Given the description of an element on the screen output the (x, y) to click on. 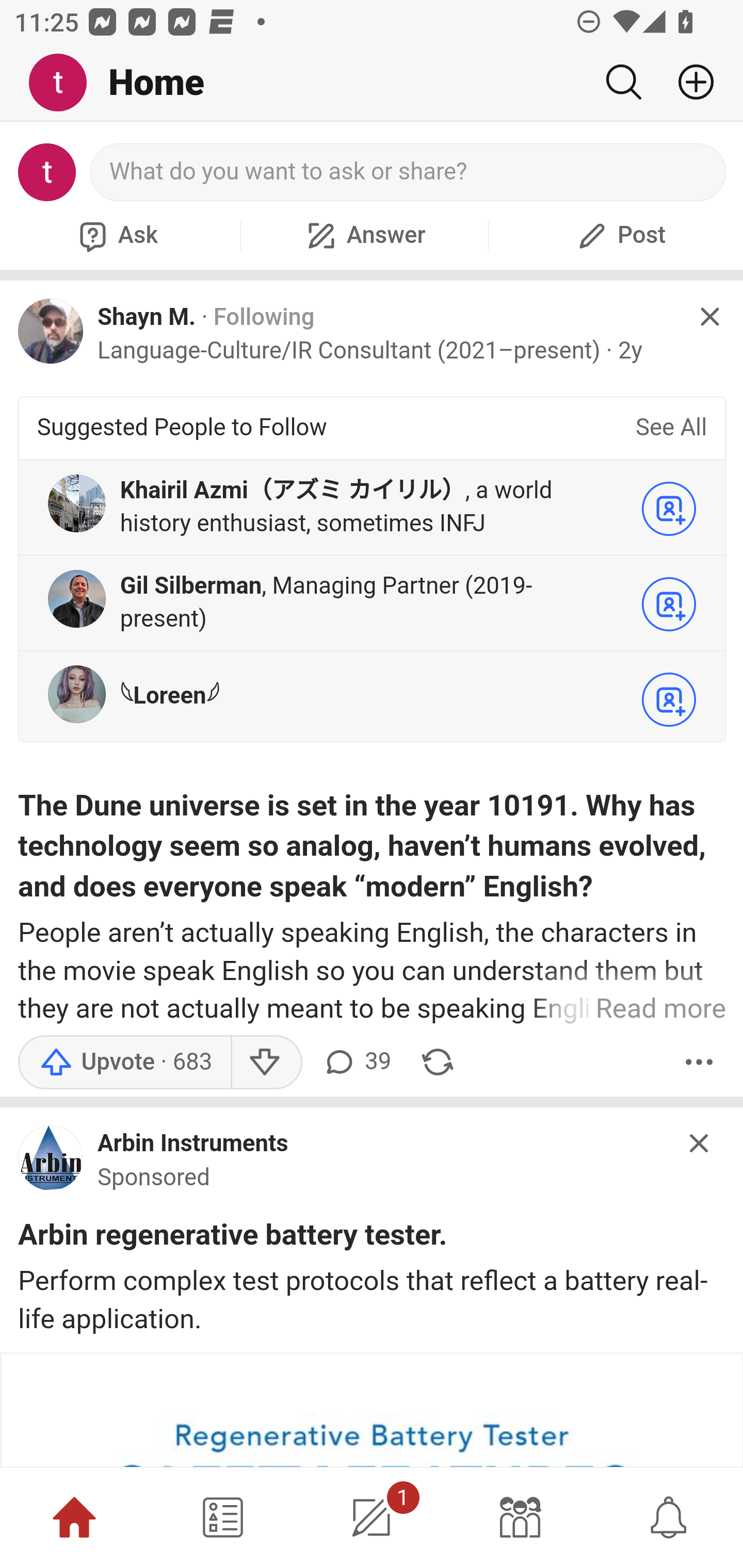
Me (64, 83)
Search (623, 82)
Add (688, 82)
What do you want to ask or share? (408, 172)
Ask (116, 234)
Answer (364, 234)
Post (618, 234)
Hide (709, 316)
Profile photo for Shayn M. (50, 330)
Shayn M. (146, 316)
See All (670, 428)
Profile photo for Khairil Azmi（アズミ カイリル） (76, 503)
Khairil Azmi（アズミ カイリル） (291, 490)
Follow Khairil Azmi（アズミ カイリル） (668, 508)
Profile photo for Gil Silberman (76, 598)
Gil Silberman (190, 586)
Follow Gil Silberman (668, 604)
Profile photo for 𓆩Loreen𓆪 (76, 694)
Follow 𓆩Loreen𓆪 (668, 699)
𓆩Loreen𓆪 (169, 695)
Upvote (124, 1061)
Downvote (266, 1061)
39 comments (356, 1061)
Share (437, 1061)
More (699, 1061)
Hide (699, 1143)
main-qimg-e3204e8ac522f2bc4d03db14dfcf0739 (50, 1161)
Arbin Instruments (193, 1144)
Arbin regenerative battery tester. (232, 1237)
1 (371, 1517)
